Given the description of an element on the screen output the (x, y) to click on. 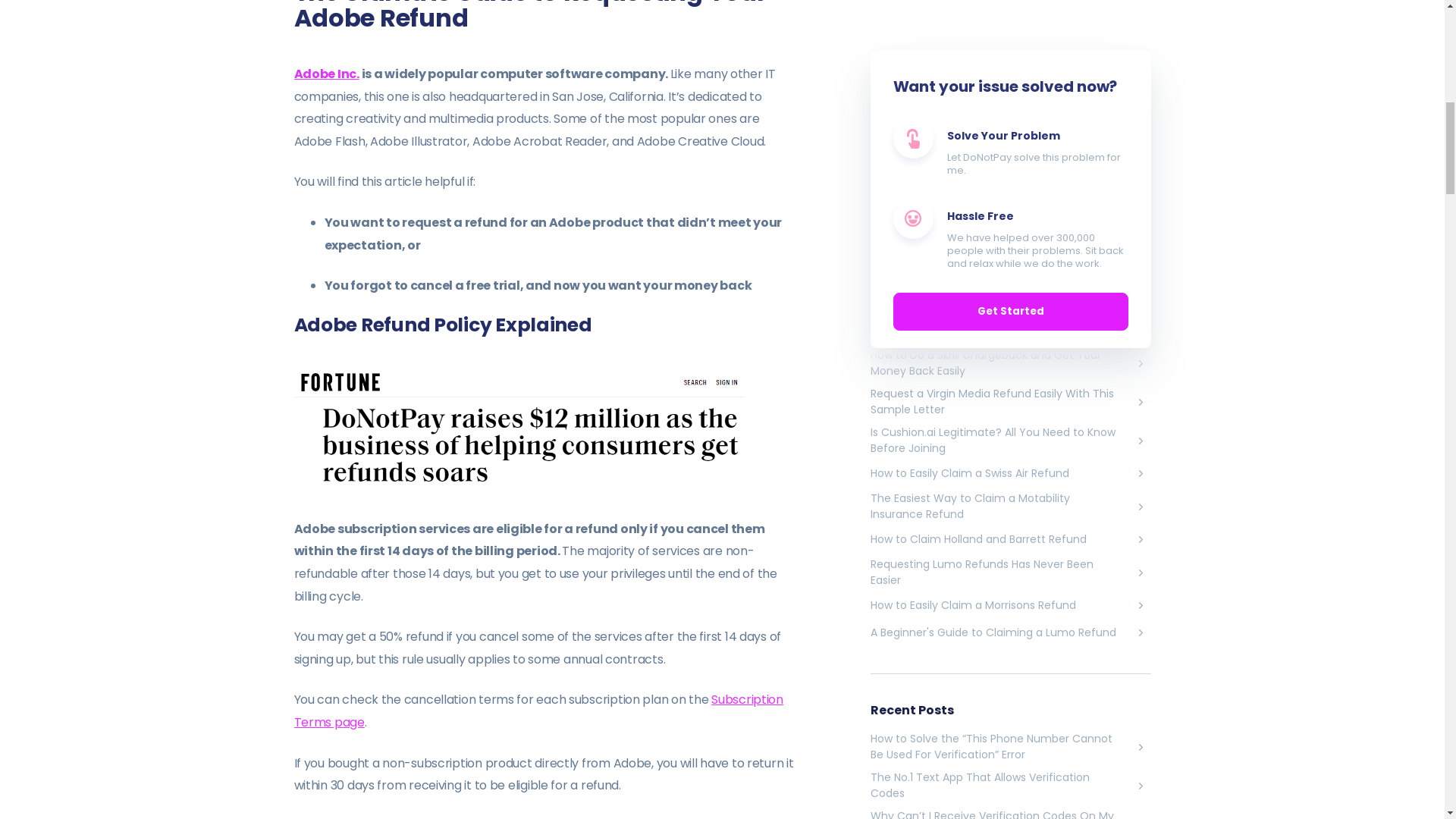
Subscription Terms page (538, 711)
Adobe Inc. (326, 73)
